Given the description of an element on the screen output the (x, y) to click on. 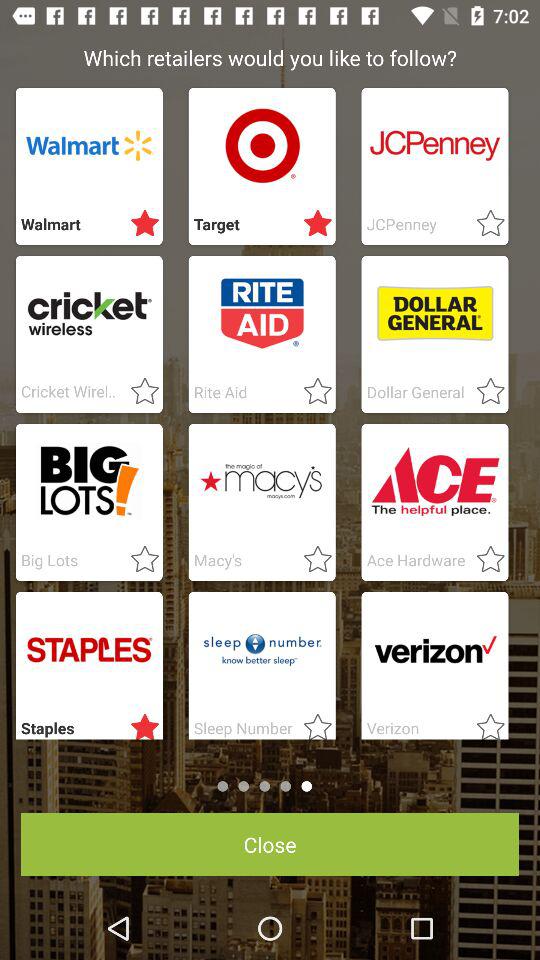
like to follow (484, 392)
